Given the description of an element on the screen output the (x, y) to click on. 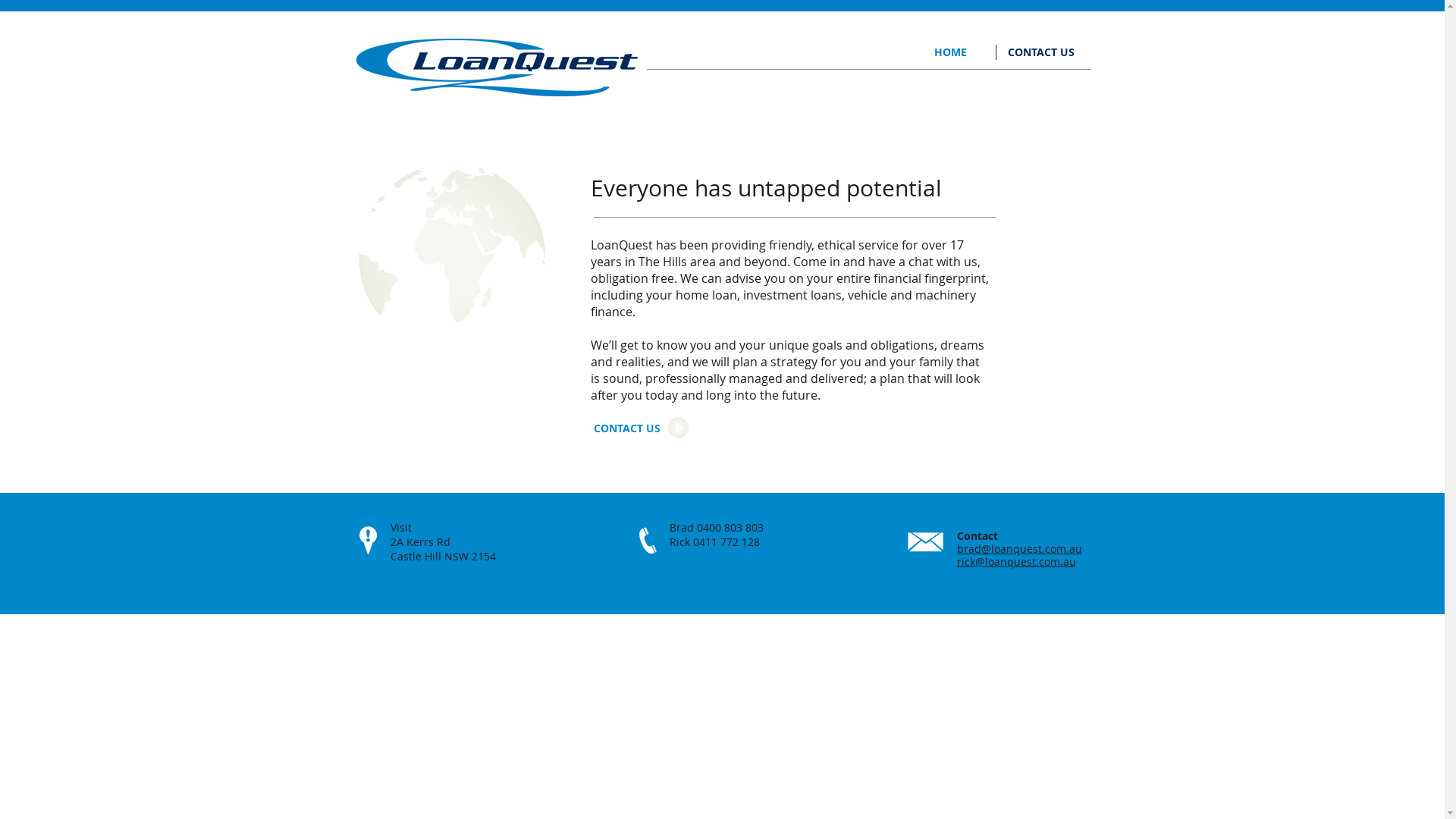
CONTACT US Element type: text (627, 428)
Facebook Like Element type: hover (998, 96)
brad@loanquest.com.au Element type: text (1019, 548)
CONTACT US Element type: text (1040, 51)
Edited Image 2014-8-7-18:38:22 Element type: hover (451, 256)
rick@loanquest.com.au Element type: text (1016, 561)
HOME Element type: text (950, 51)
